Given the description of an element on the screen output the (x, y) to click on. 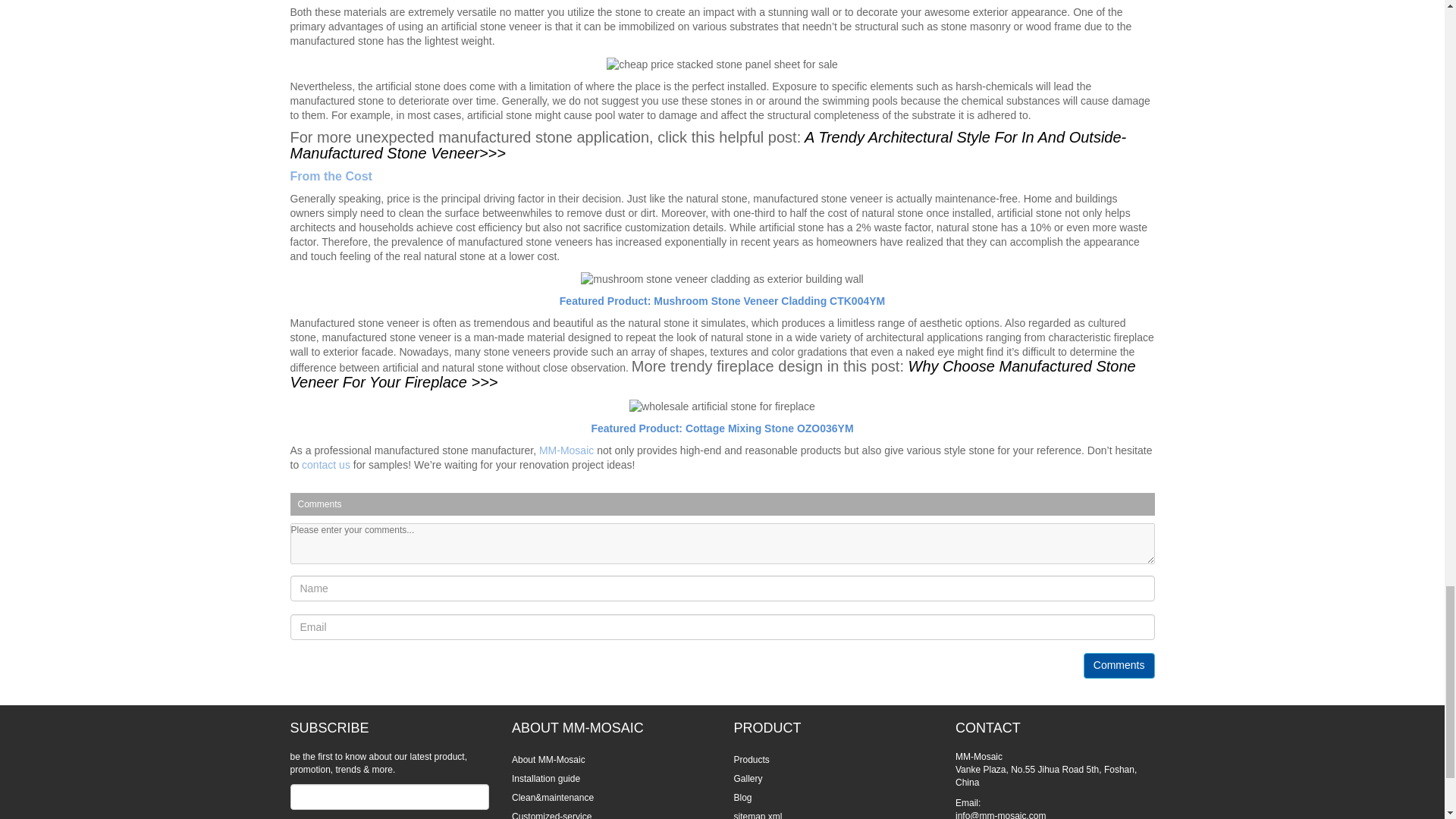
cheap price stacked stone panel sheet for sale (721, 64)
mushroom stone veneer cladding as exterior building wall (721, 278)
